Given the description of an element on the screen output the (x, y) to click on. 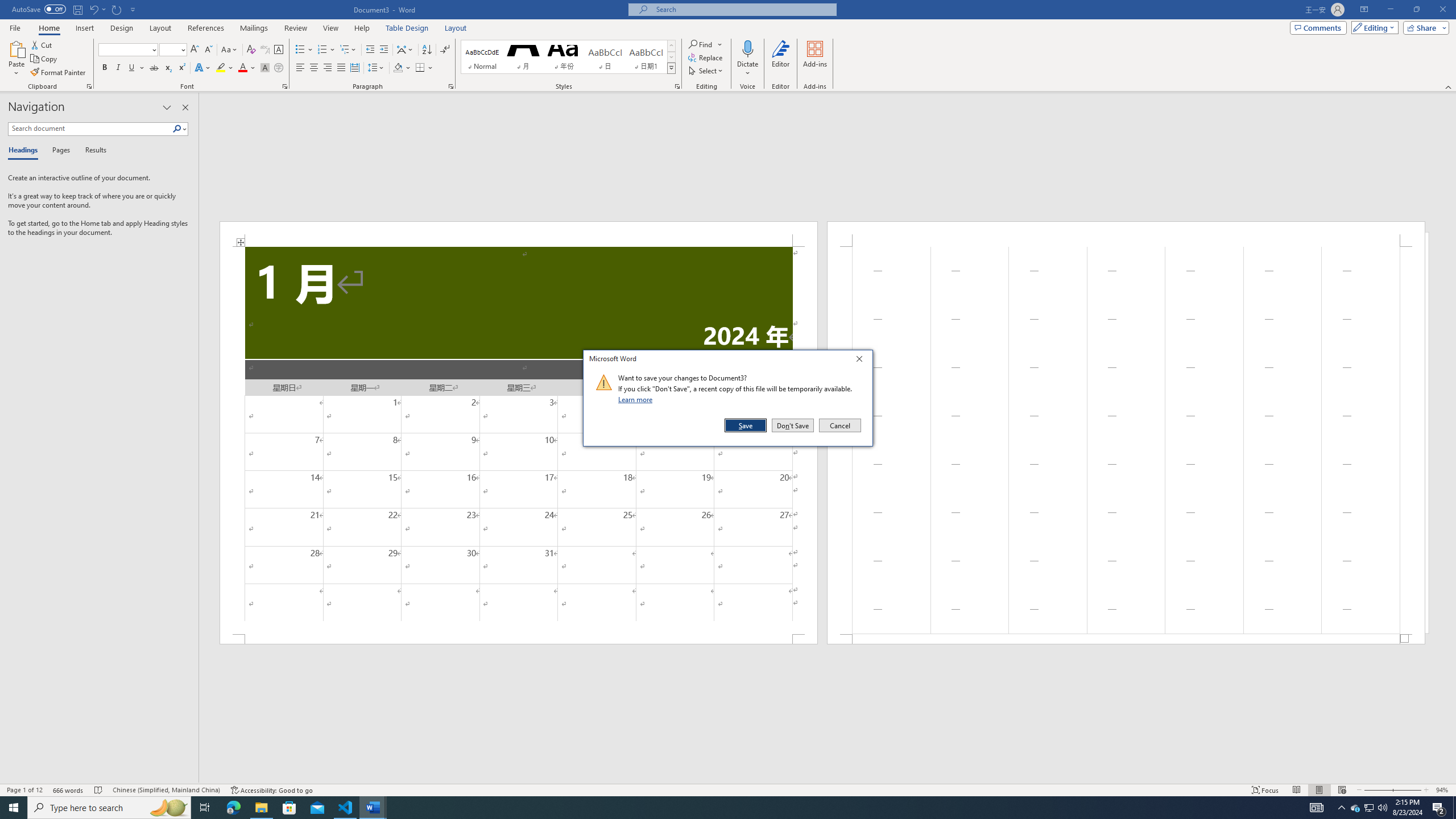
Type here to search (108, 807)
Distributed (354, 67)
Mode (1372, 27)
Design (122, 28)
Spelling and Grammar Check No Errors (98, 790)
Clear Formatting (250, 49)
Search document (89, 128)
Multilevel List (347, 49)
Microsoft search (742, 9)
AutomationID: QuickStylesGallery (568, 56)
Word Count 666 words (68, 790)
Results (91, 150)
Cut (42, 44)
Shading RGB(0, 0, 0) (397, 67)
Font Color (246, 67)
